Given the description of an element on the screen output the (x, y) to click on. 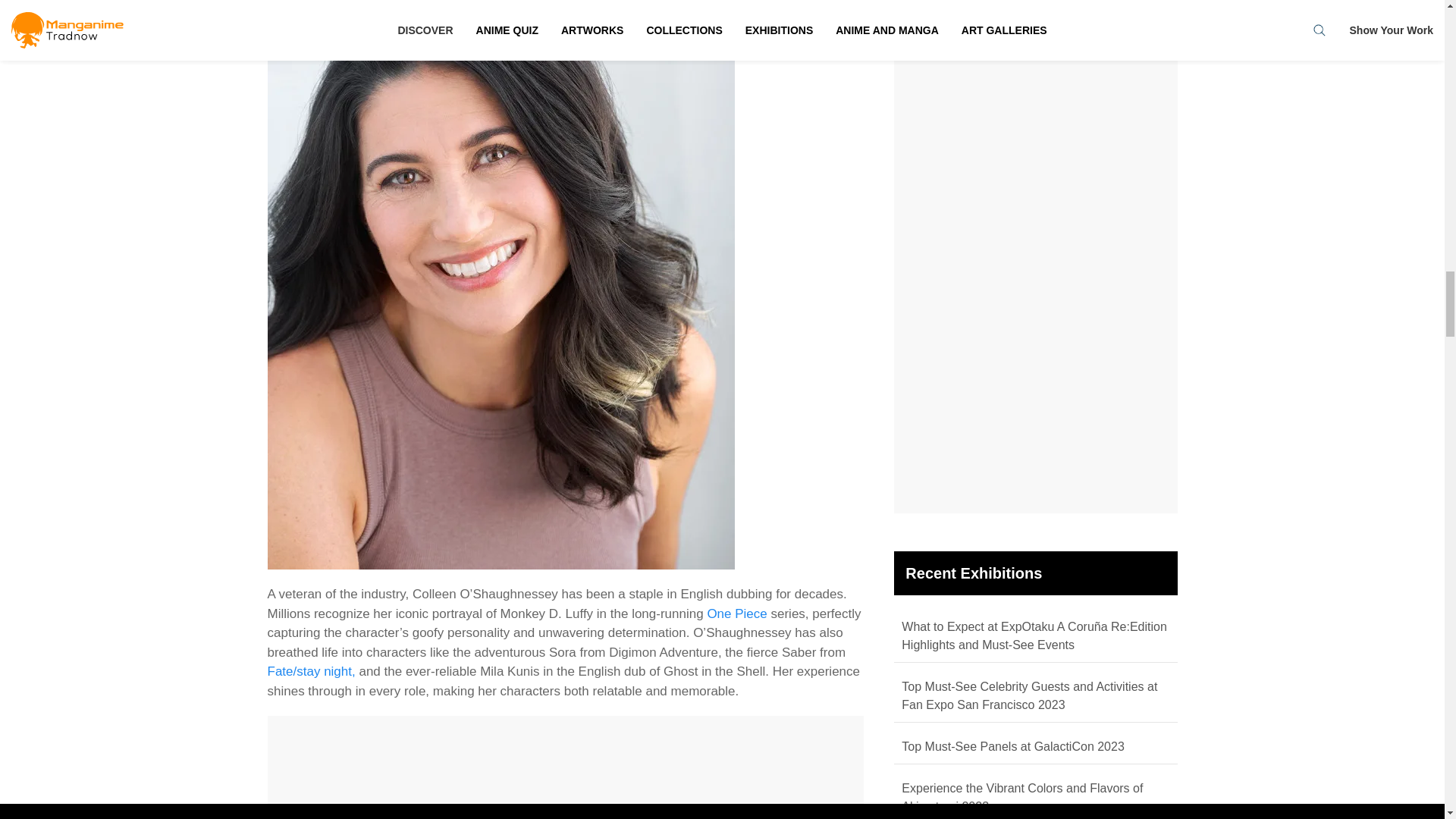
One Piece (736, 613)
